Given the description of an element on the screen output the (x, y) to click on. 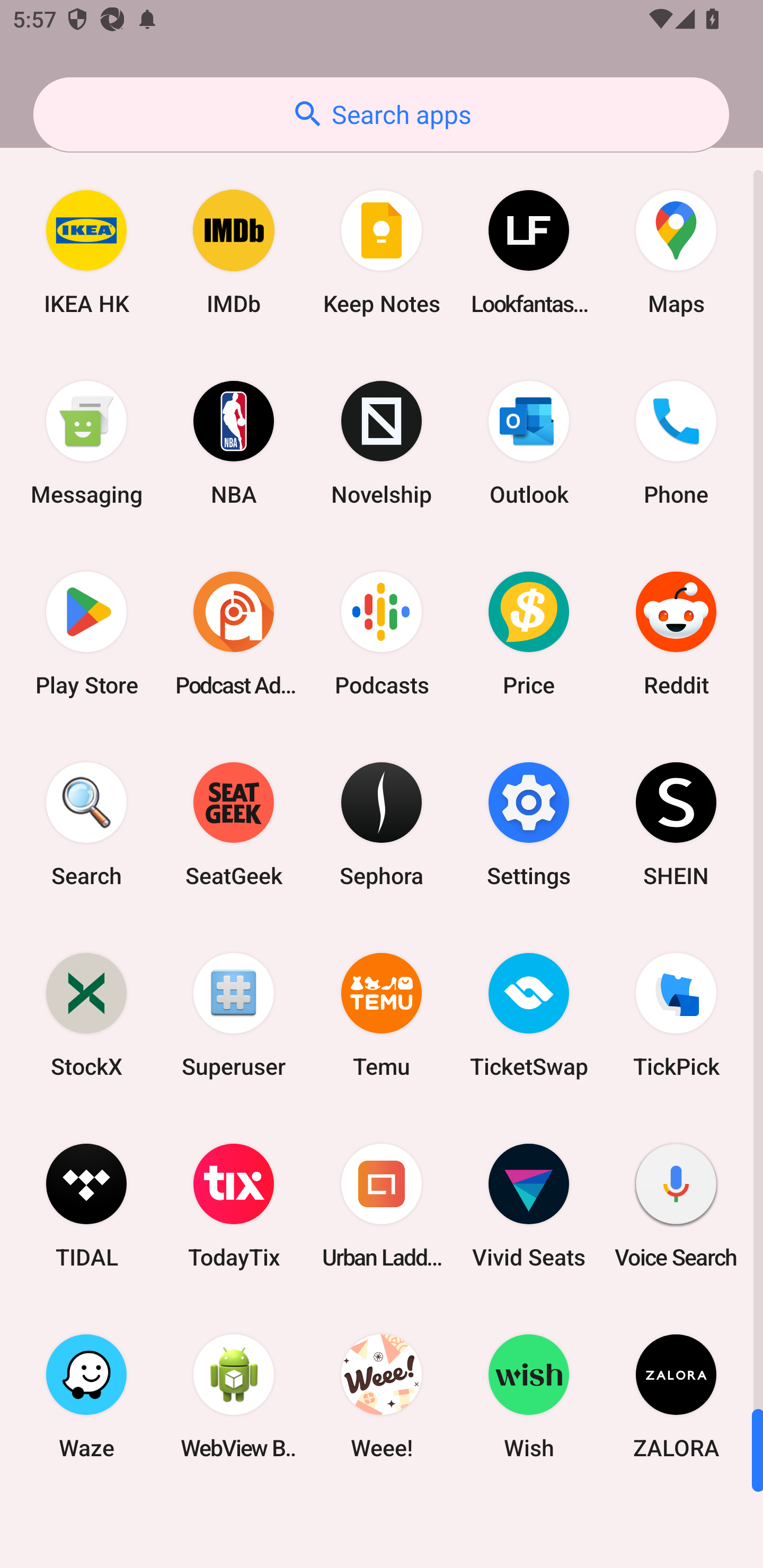
  Search apps (381, 114)
IKEA HK (86, 252)
IMDb (233, 252)
Keep Notes (381, 252)
Lookfantastic (528, 252)
Maps (676, 252)
Messaging (86, 442)
NBA (233, 442)
Novelship (381, 442)
Outlook (528, 442)
Phone (676, 442)
Play Store (86, 633)
Podcast Addict (233, 633)
Podcasts (381, 633)
Price (528, 633)
Reddit (676, 633)
Search (86, 823)
SeatGeek (233, 823)
Sephora (381, 823)
Settings (528, 823)
SHEIN (676, 823)
StockX (86, 1014)
Superuser (233, 1014)
Temu (381, 1014)
TicketSwap (528, 1014)
TickPick (676, 1014)
TIDAL (86, 1205)
TodayTix (233, 1205)
Urban Ladder (381, 1205)
Vivid Seats (528, 1205)
Voice Search (676, 1205)
Waze (86, 1396)
WebView Browser Tester (233, 1396)
Weee! (381, 1396)
Wish (528, 1396)
ZALORA (676, 1396)
